Given the description of an element on the screen output the (x, y) to click on. 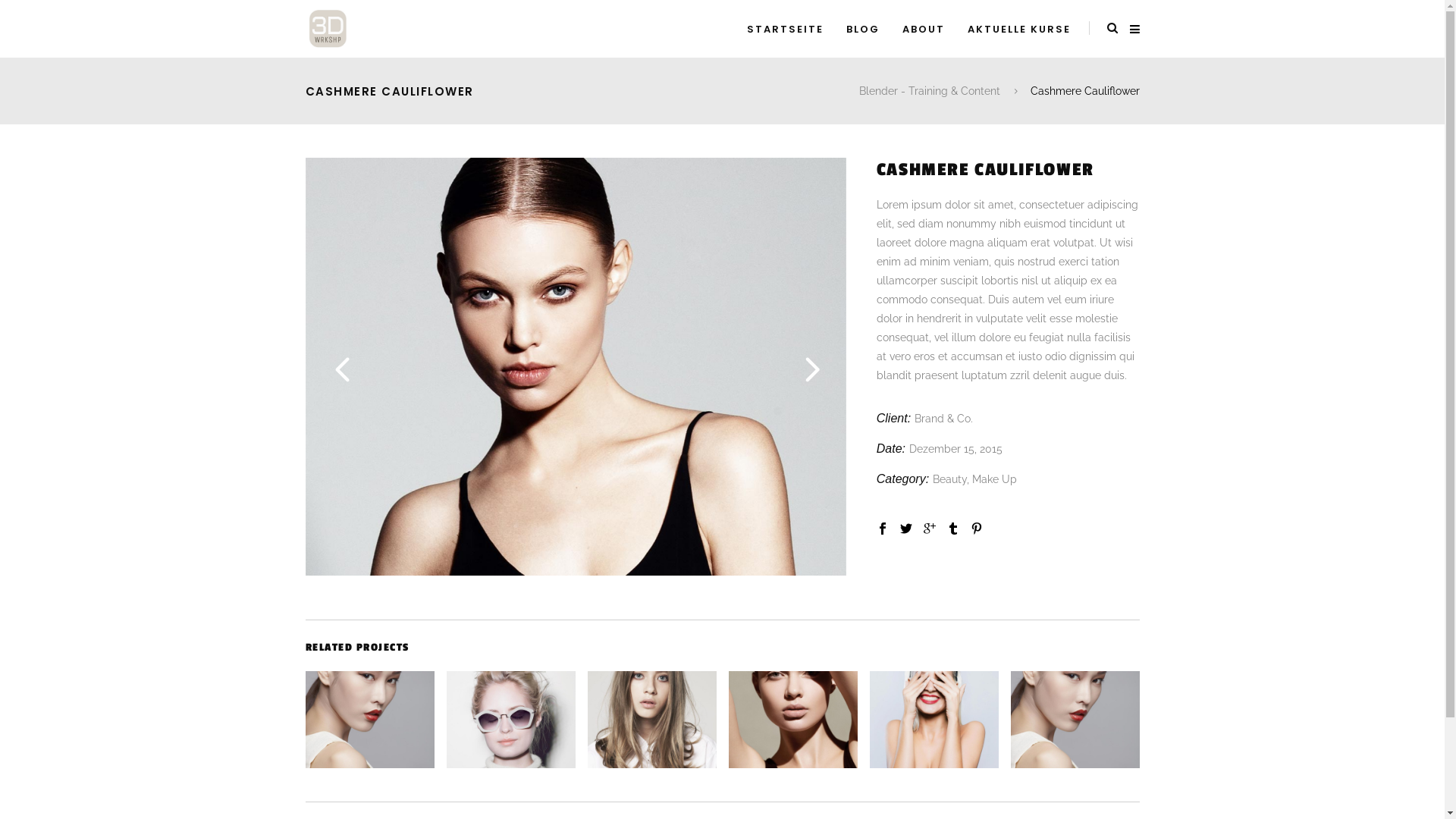
STARTSEITE Element type: text (784, 28)
Blender - Training & Content Element type: text (928, 90)
BLOG Element type: text (862, 28)
Gallery 5 Element type: hover (1116, 571)
Gallery 4 Element type: hover (574, 571)
ABOUT Element type: text (922, 28)
AKTUELLE KURSE Element type: text (1018, 28)
